Given the description of an element on the screen output the (x, y) to click on. 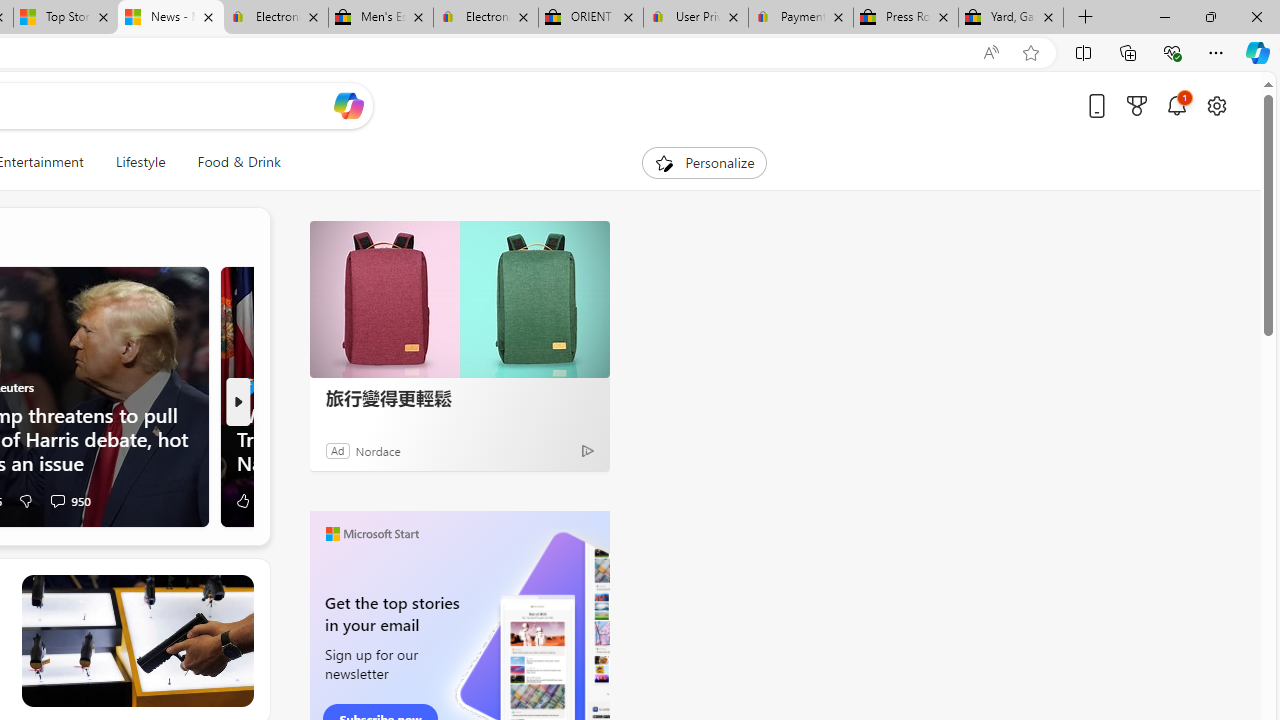
Food & Drink (239, 162)
Top Stories - MSN (65, 17)
Lifestyle (139, 162)
Electronics, Cars, Fashion, Collectibles & More | eBay (485, 17)
Yard, Garden & Outdoor Living (1010, 17)
See more (239, 589)
